Given the description of an element on the screen output the (x, y) to click on. 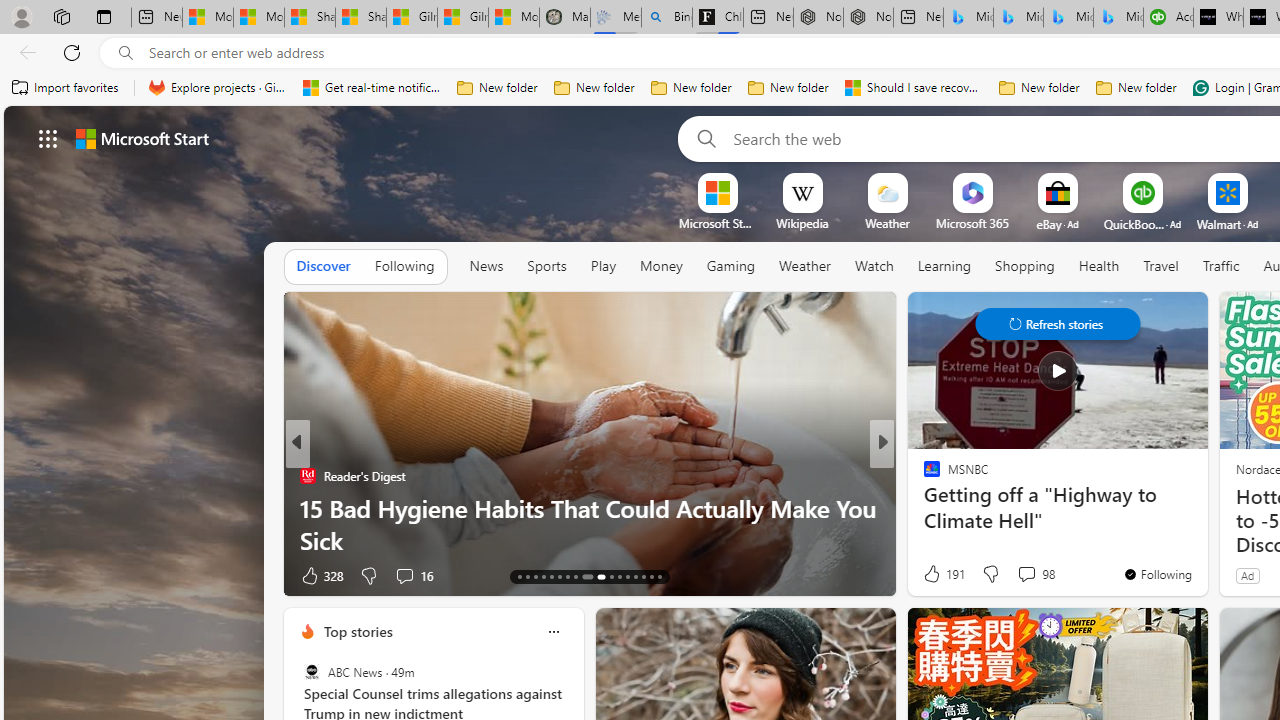
15 Bad Hygiene Habits That Could Actually Make You Sick (589, 523)
AutomationID: tab-20 (574, 576)
Watch (874, 265)
AutomationID: tab-25 (627, 576)
Microsoft Bing Travel - Stays in Bangkok, Bangkok, Thailand (1018, 17)
New folder (1136, 88)
AutomationID: tab-23 (610, 576)
Gaming (730, 265)
AutomationID: tab-15 (535, 576)
Weather (804, 267)
Microsoft start (142, 138)
